Given the description of an element on the screen output the (x, y) to click on. 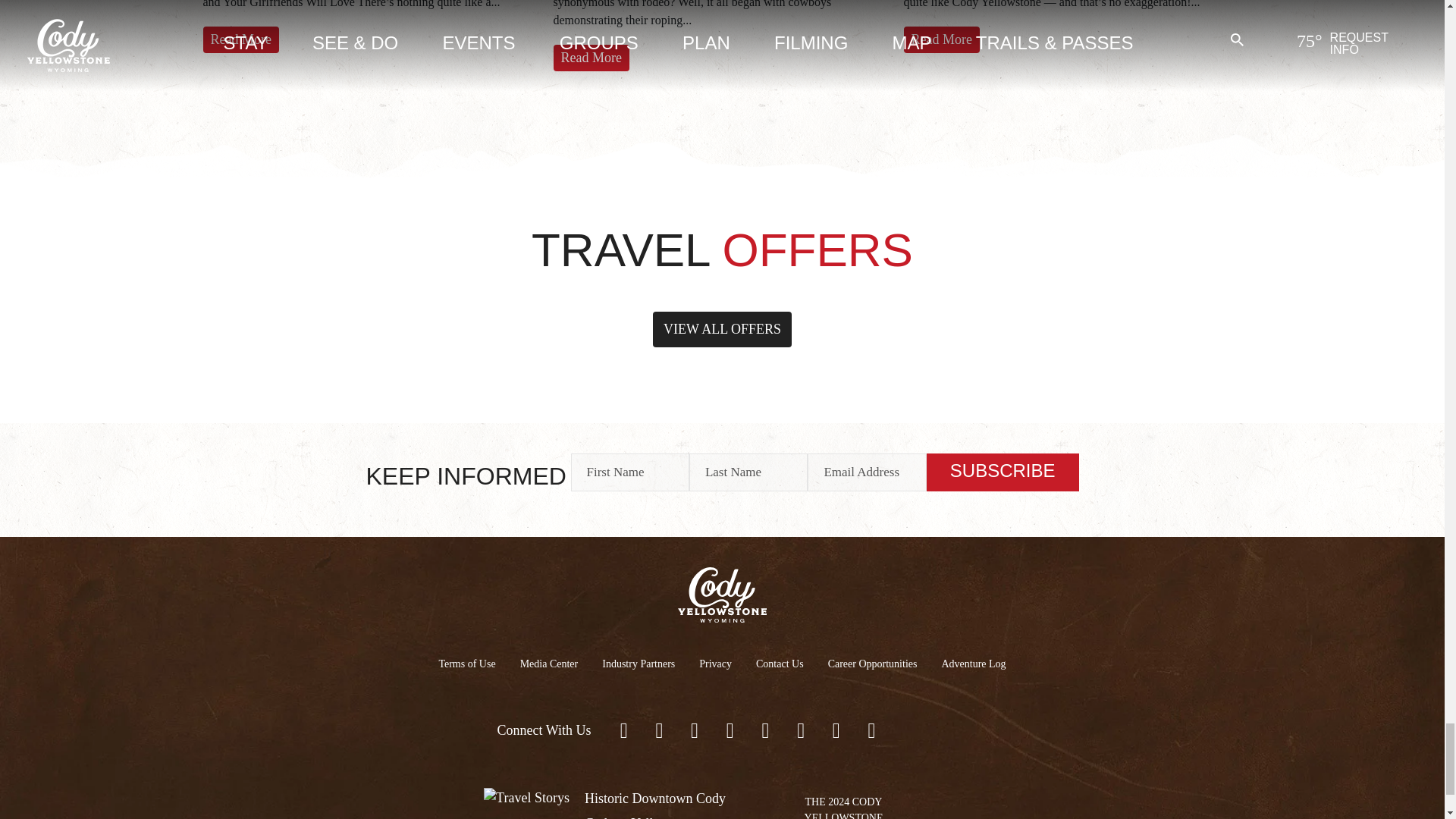
Read More (941, 39)
Industry Partners (638, 663)
Questions? Contact us! (779, 663)
Media Center (549, 663)
Last Name (748, 472)
Read More (590, 58)
Privacy Policy (715, 663)
Career Opportunities (872, 663)
Terms and Conditions (466, 663)
Email Address (867, 472)
Contact Us (779, 663)
VIEW ALL OFFERS (722, 329)
Home (722, 592)
Read More (241, 39)
Industry Partners (638, 663)
